Given the description of an element on the screen output the (x, y) to click on. 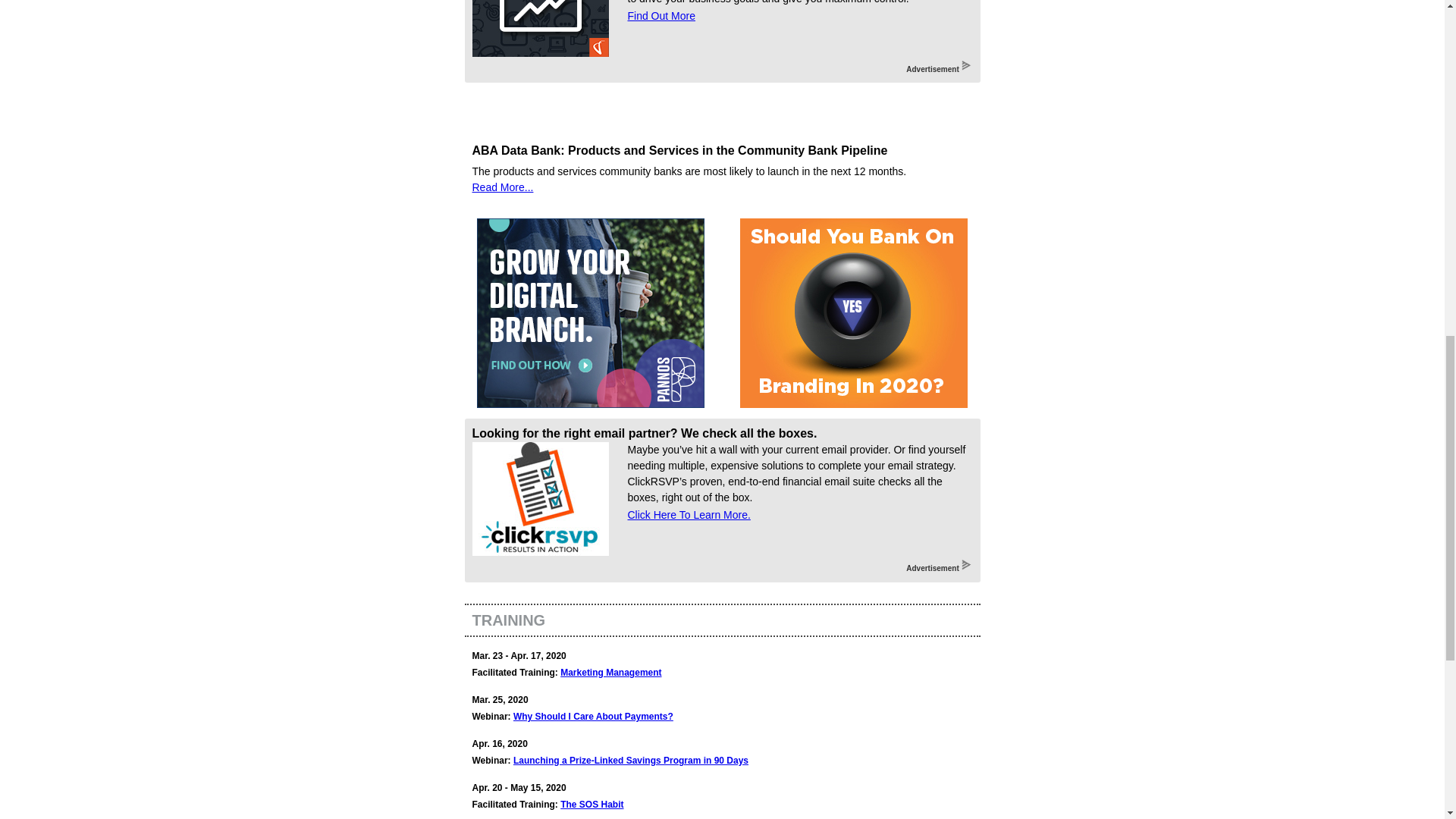
Marketing Management (610, 672)
Why Should I Care About Payments? (592, 716)
The SOS Habit (591, 804)
Launching a Prize-Linked Savings Program in 90 Days (630, 760)
Find Out More (661, 15)
Click Here To Learn More. (689, 514)
Looking for the right email partner? We check all the boxes. (643, 432)
Read More... (501, 186)
